Given the description of an element on the screen output the (x, y) to click on. 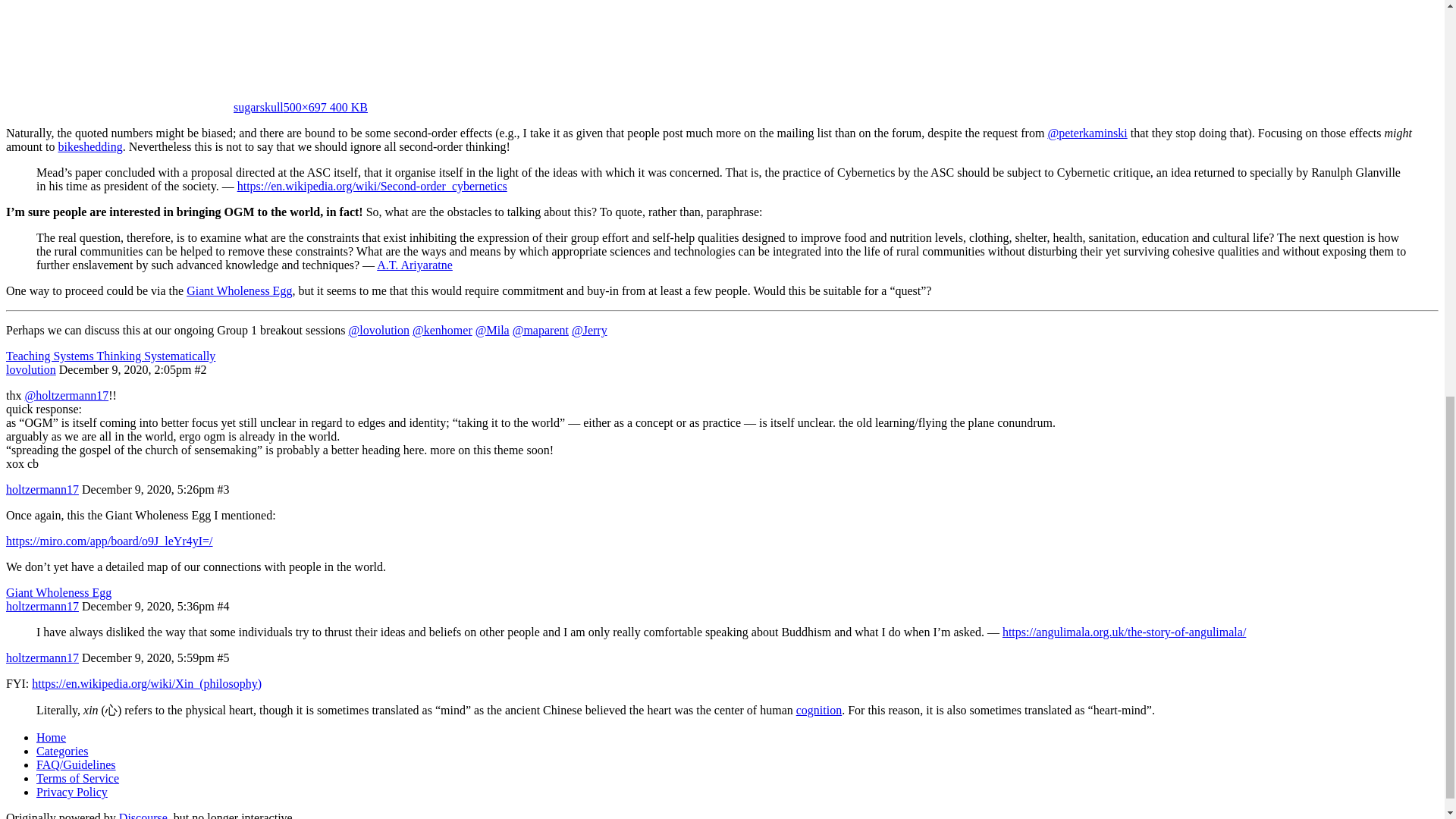
holtzermann17 (41, 489)
holtzermann17 (41, 605)
Terms of Service (77, 778)
Teaching Systems Thinking Systematically (110, 355)
lovolution (30, 369)
bikeshedding (90, 146)
Home (50, 737)
Categories (61, 750)
Privacy Policy (71, 791)
A.T. Ariyaratne (414, 264)
